Given the description of an element on the screen output the (x, y) to click on. 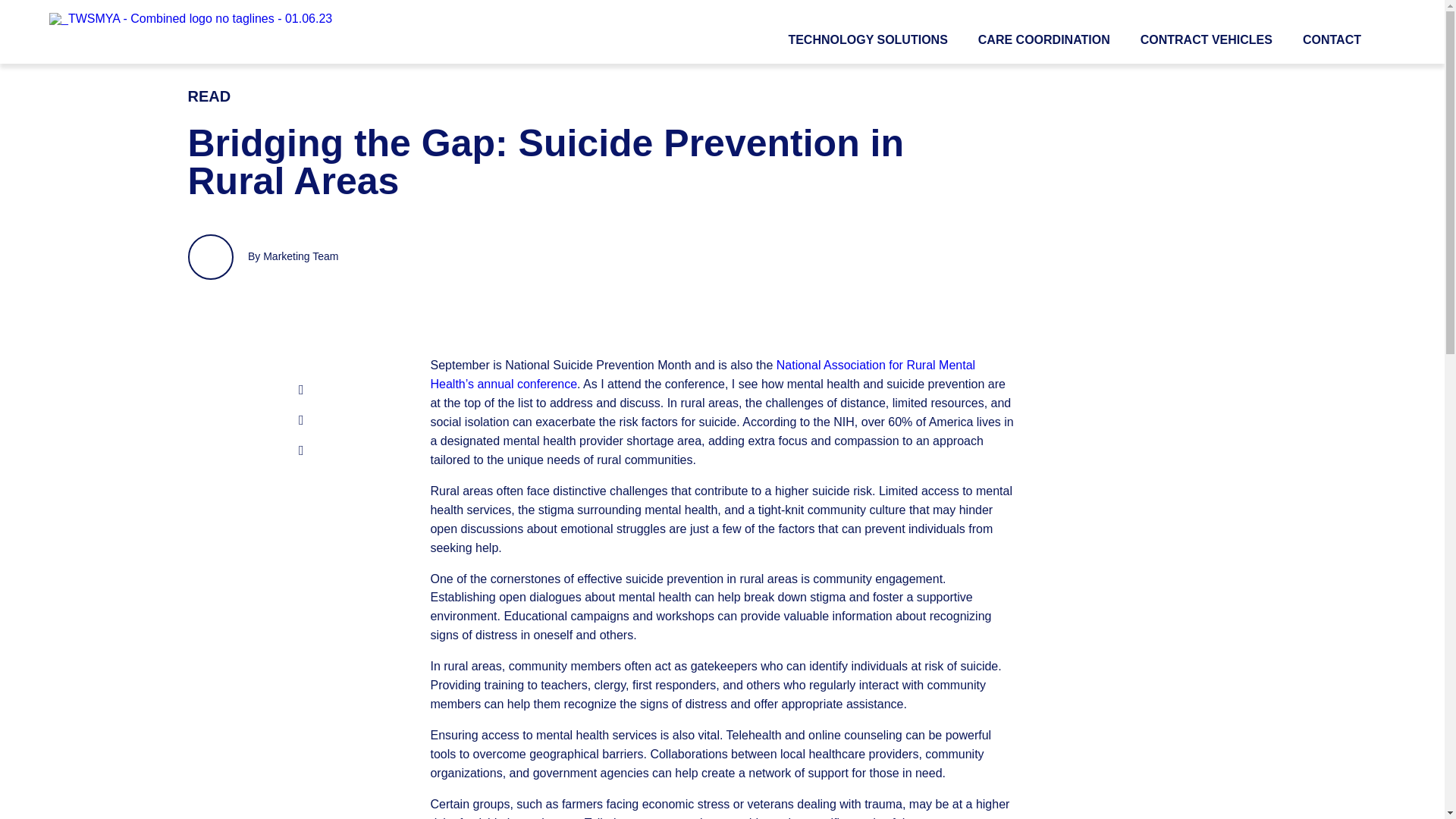
CONTACT (1331, 38)
ABOUT US (628, 701)
TECHNOLOGY SOLUTIONS (867, 38)
CONTRACT VEHICLES (1206, 38)
CARE COORDINATION (1043, 38)
BLOGS (695, 701)
